Given the description of an element on the screen output the (x, y) to click on. 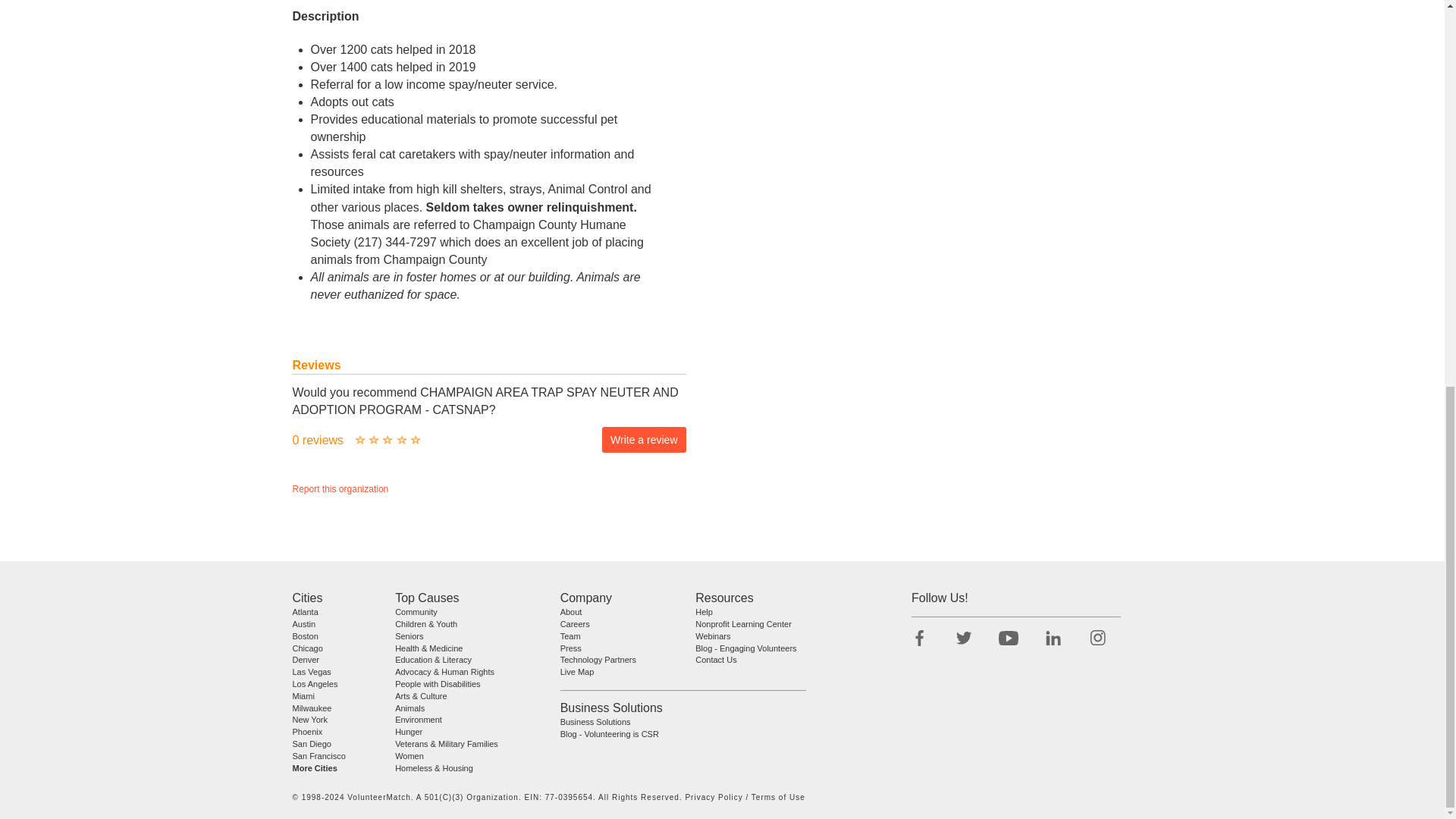
Boston (305, 635)
Atlanta (305, 611)
Chicago (307, 646)
Report this organization (340, 489)
Austin (303, 623)
Write a review (643, 439)
